Given the description of an element on the screen output the (x, y) to click on. 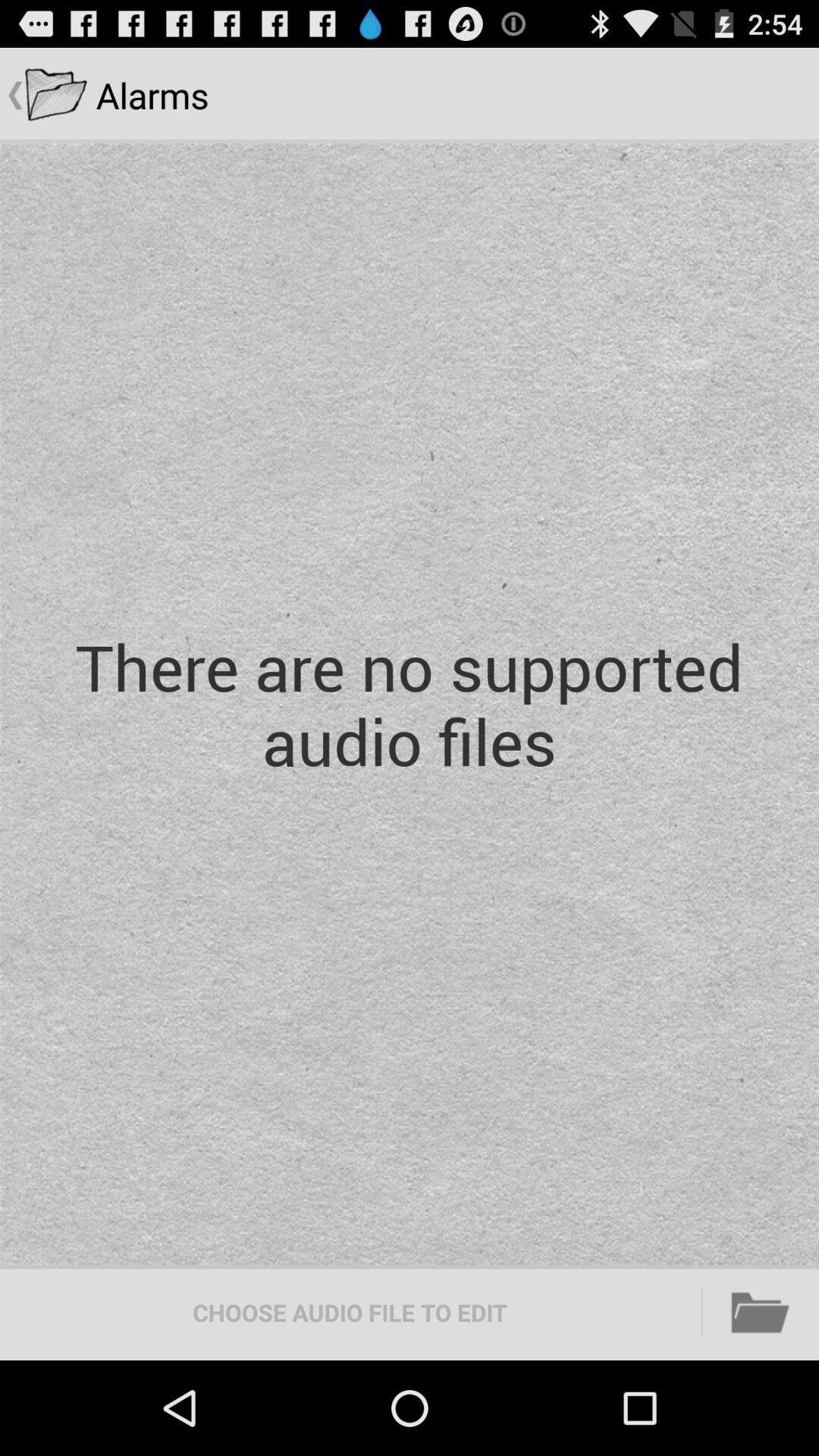
choose item to the right of the choose audio file icon (760, 1312)
